Given the description of an element on the screen output the (x, y) to click on. 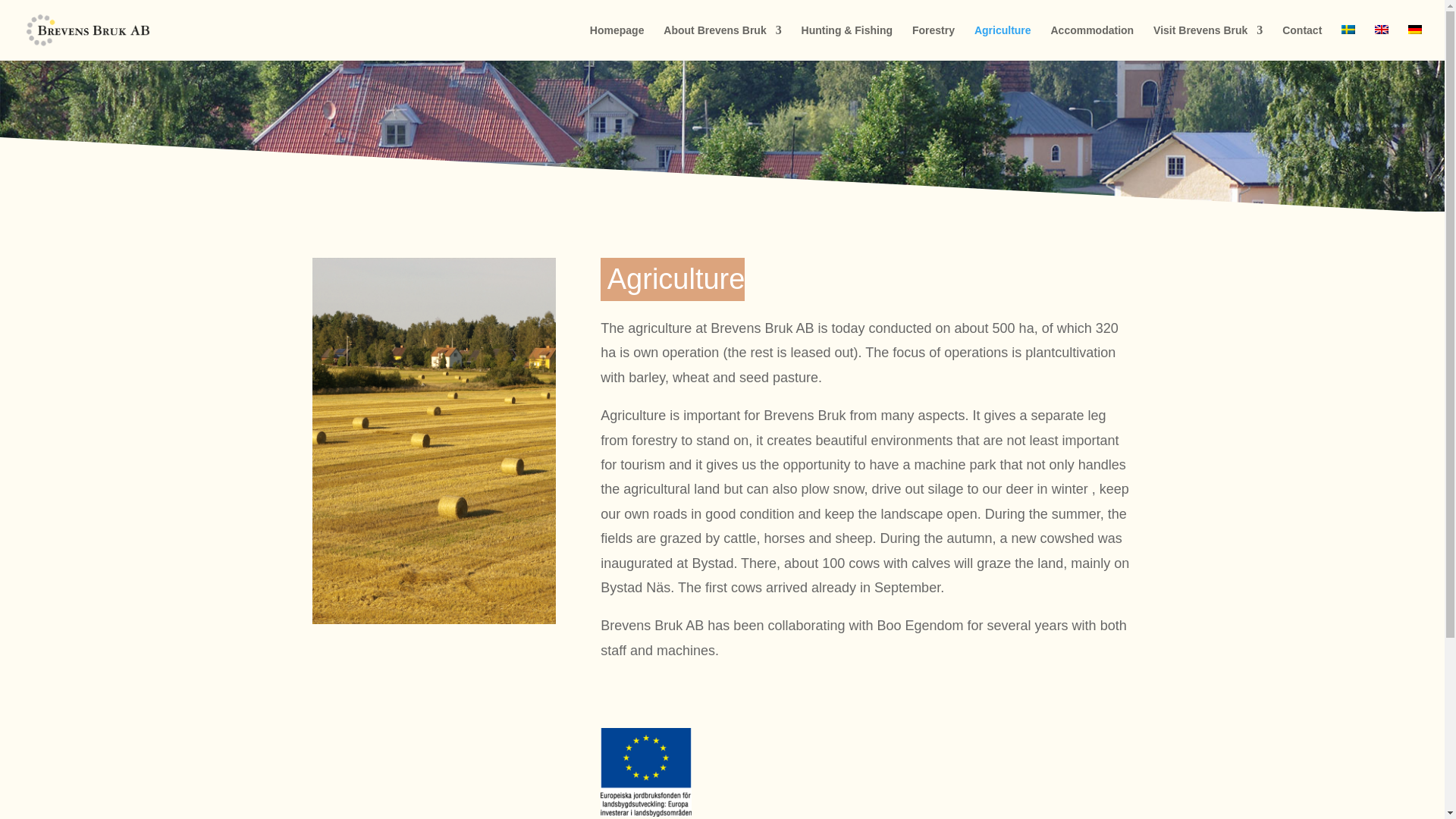
Contact (1302, 42)
About Brevens Bruk (721, 42)
Agriculture (1002, 42)
Accommodation (1091, 42)
Visit Brevens Bruk (1207, 42)
Forestry (933, 42)
Homepage (617, 42)
